Given the description of an element on the screen output the (x, y) to click on. 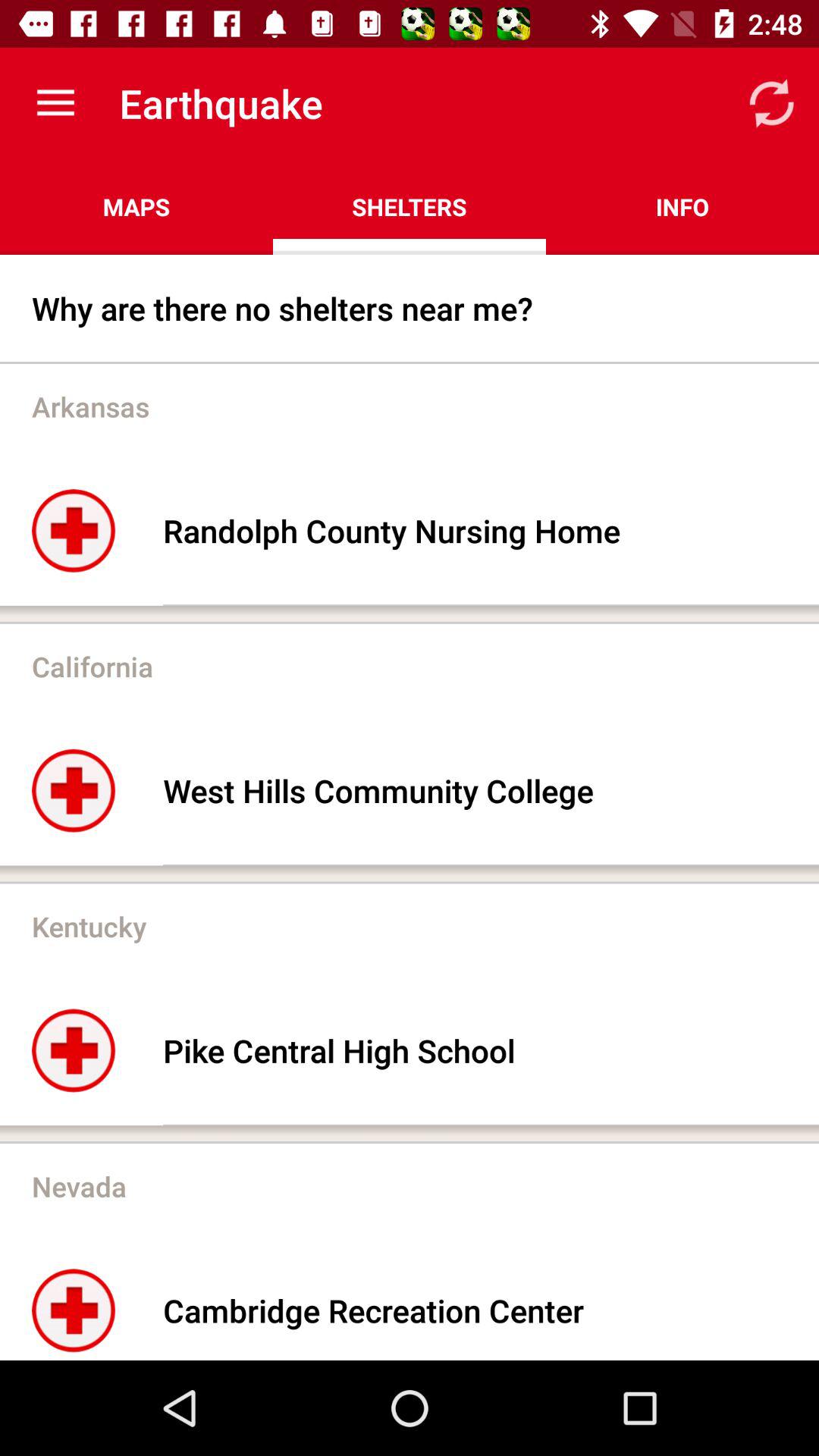
jump until the maps icon (136, 206)
